Given the description of an element on the screen output the (x, y) to click on. 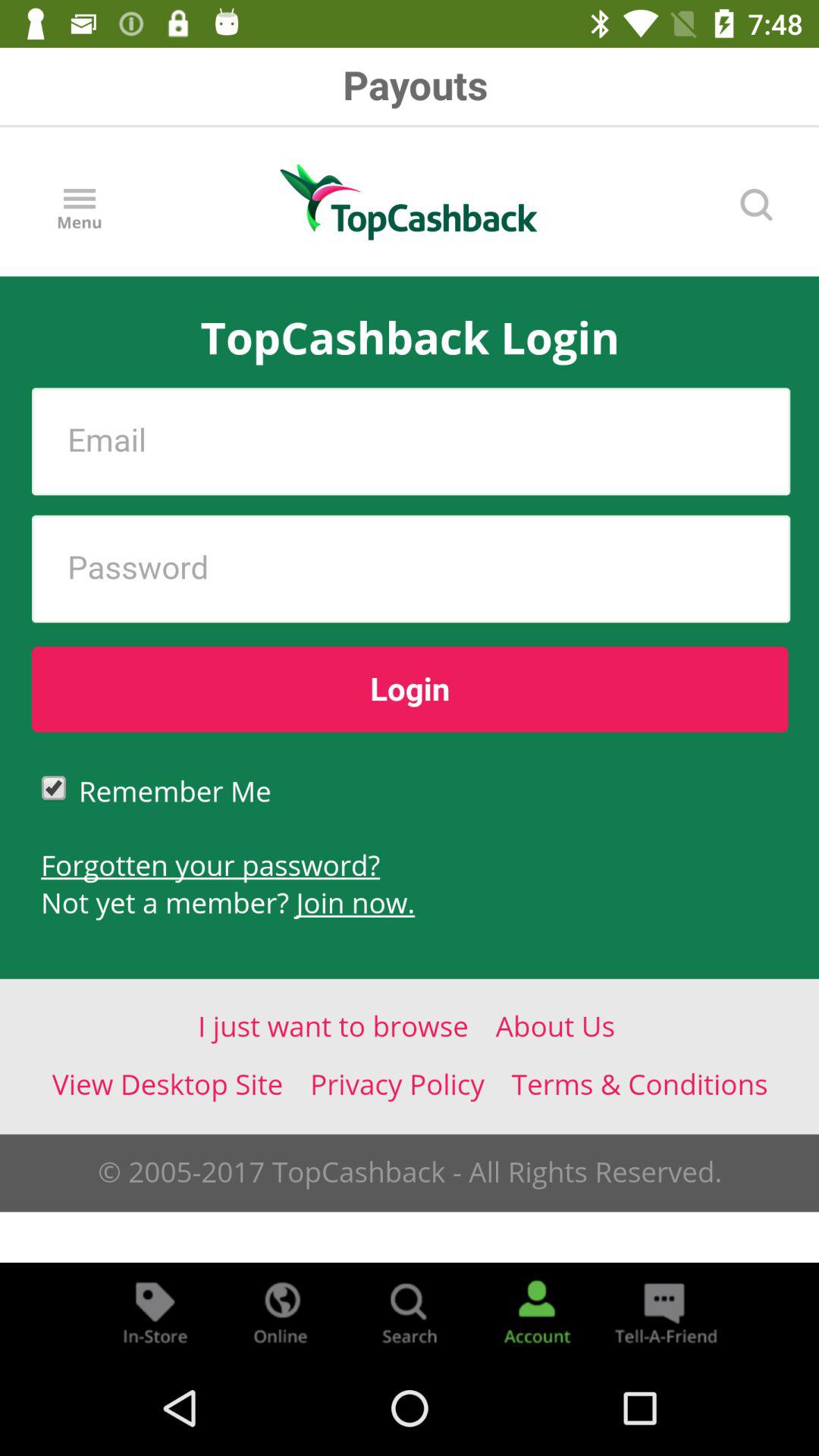
go to in-store tab (154, 1311)
